Given the description of an element on the screen output the (x, y) to click on. 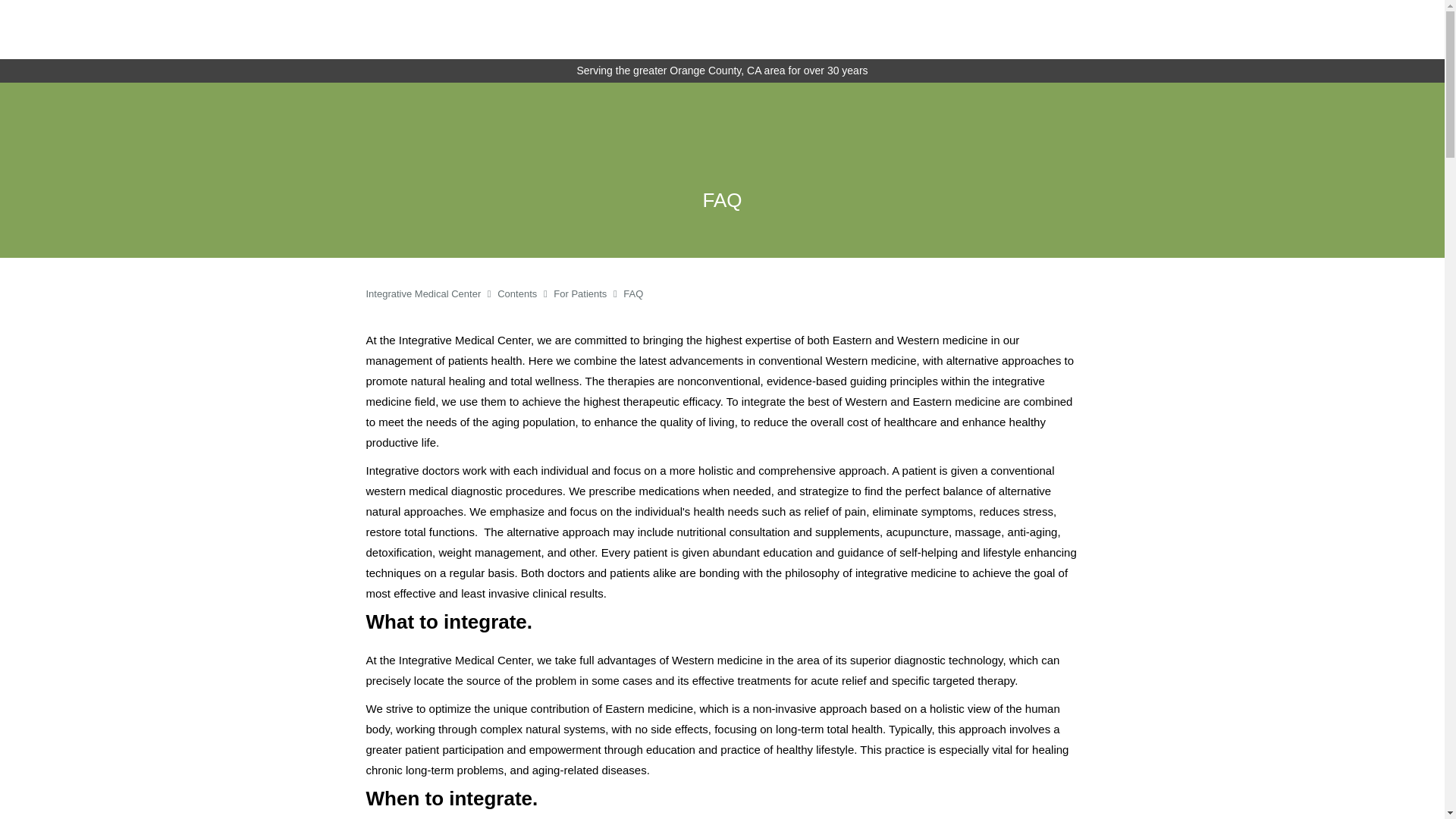
Skip to main content (74, 89)
